Given the description of an element on the screen output the (x, y) to click on. 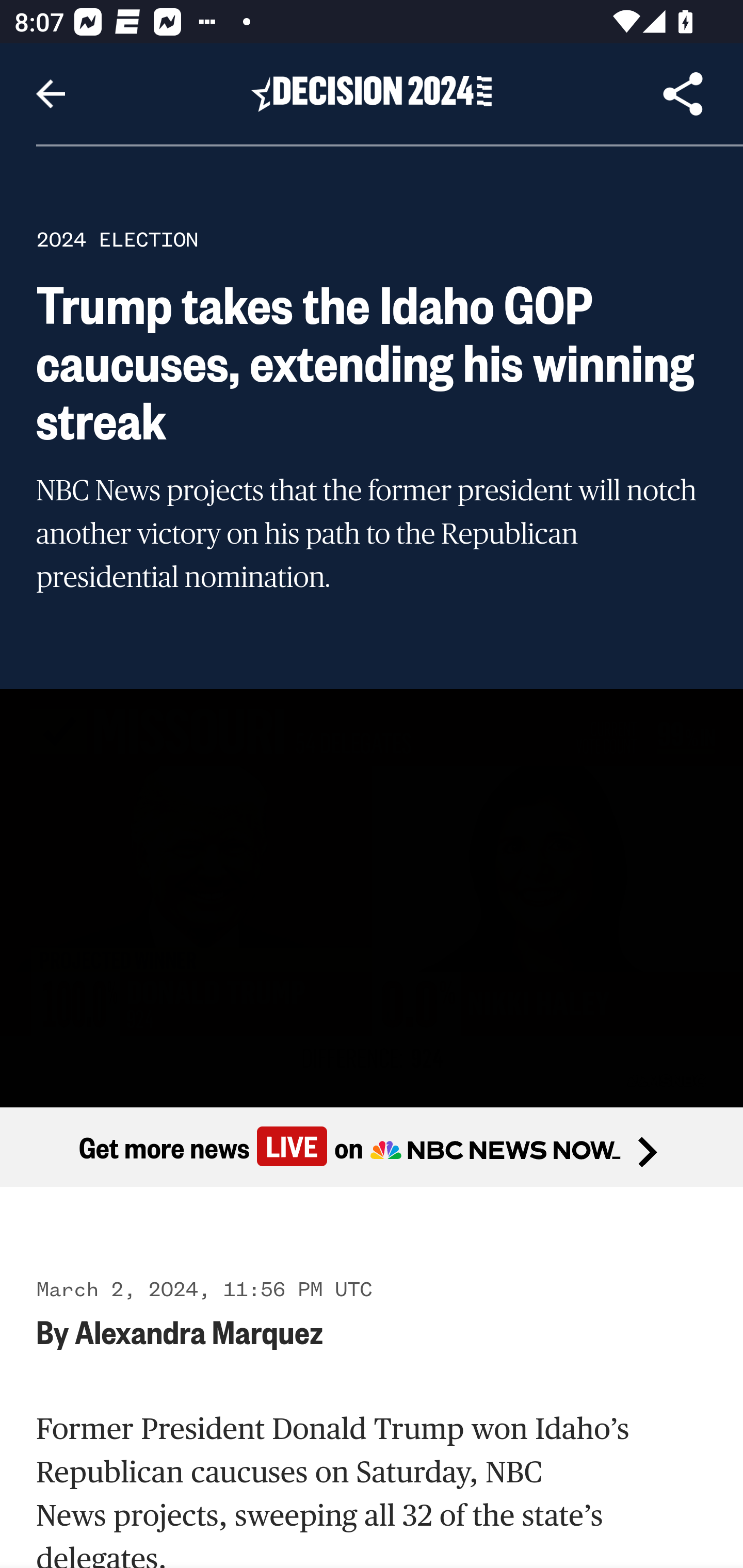
Navigate up (50, 93)
Share Article, button (683, 94)
Header, Decision 2024 (371, 93)
2024 ELECTION (117, 239)
Get more news Live on Get more news Live on (371, 1147)
